Given the description of an element on the screen output the (x, y) to click on. 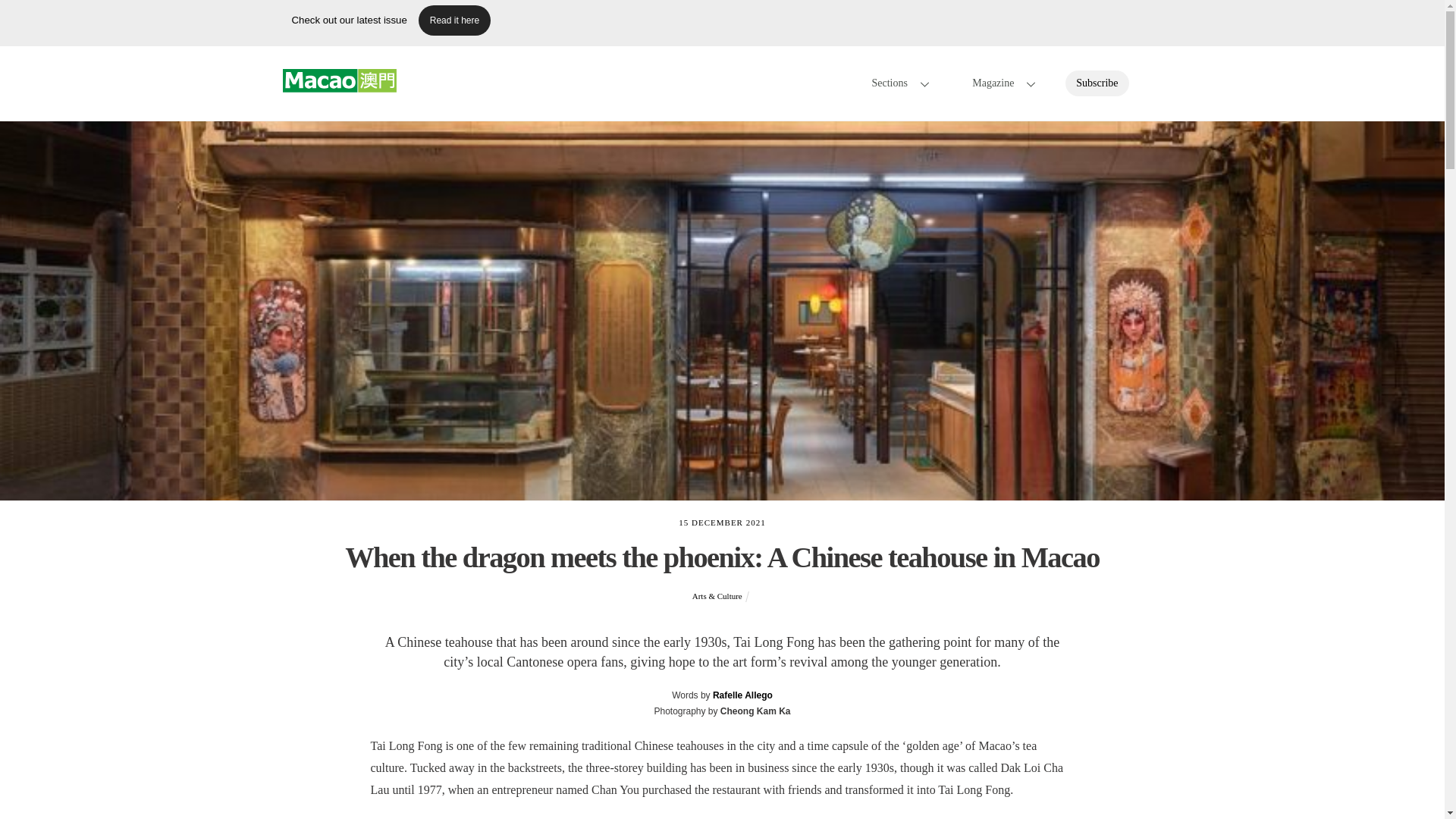
Read it here (721, 22)
Magazine (454, 20)
macaomagazine.net (1000, 82)
Subscribe (339, 85)
MmagLogo (1096, 83)
Rafelle Allego (339, 80)
Search (743, 695)
Sections (1146, 82)
